Given the description of an element on the screen output the (x, y) to click on. 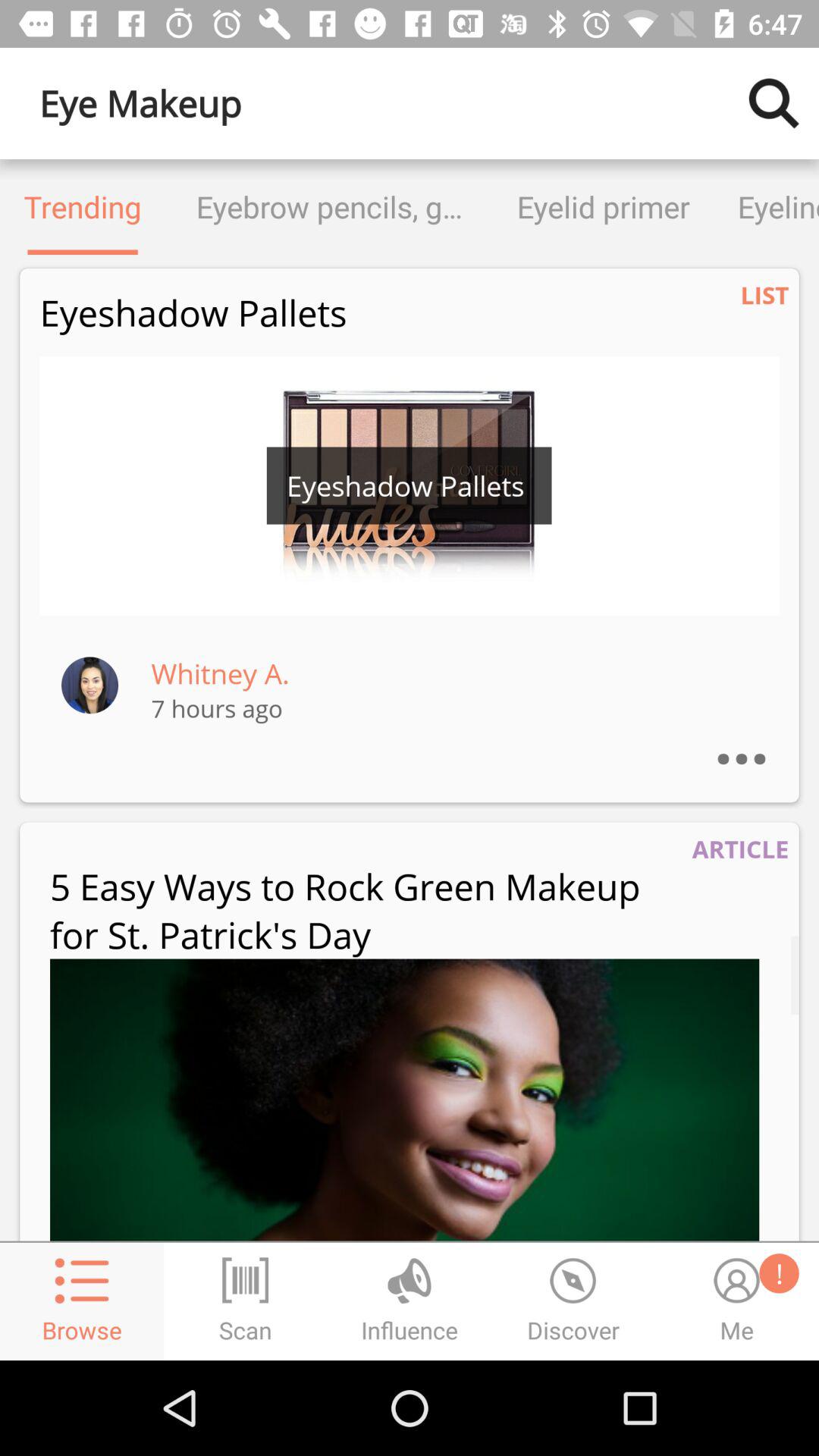
turn off the icon below eye makeup item (82, 206)
